Given the description of an element on the screen output the (x, y) to click on. 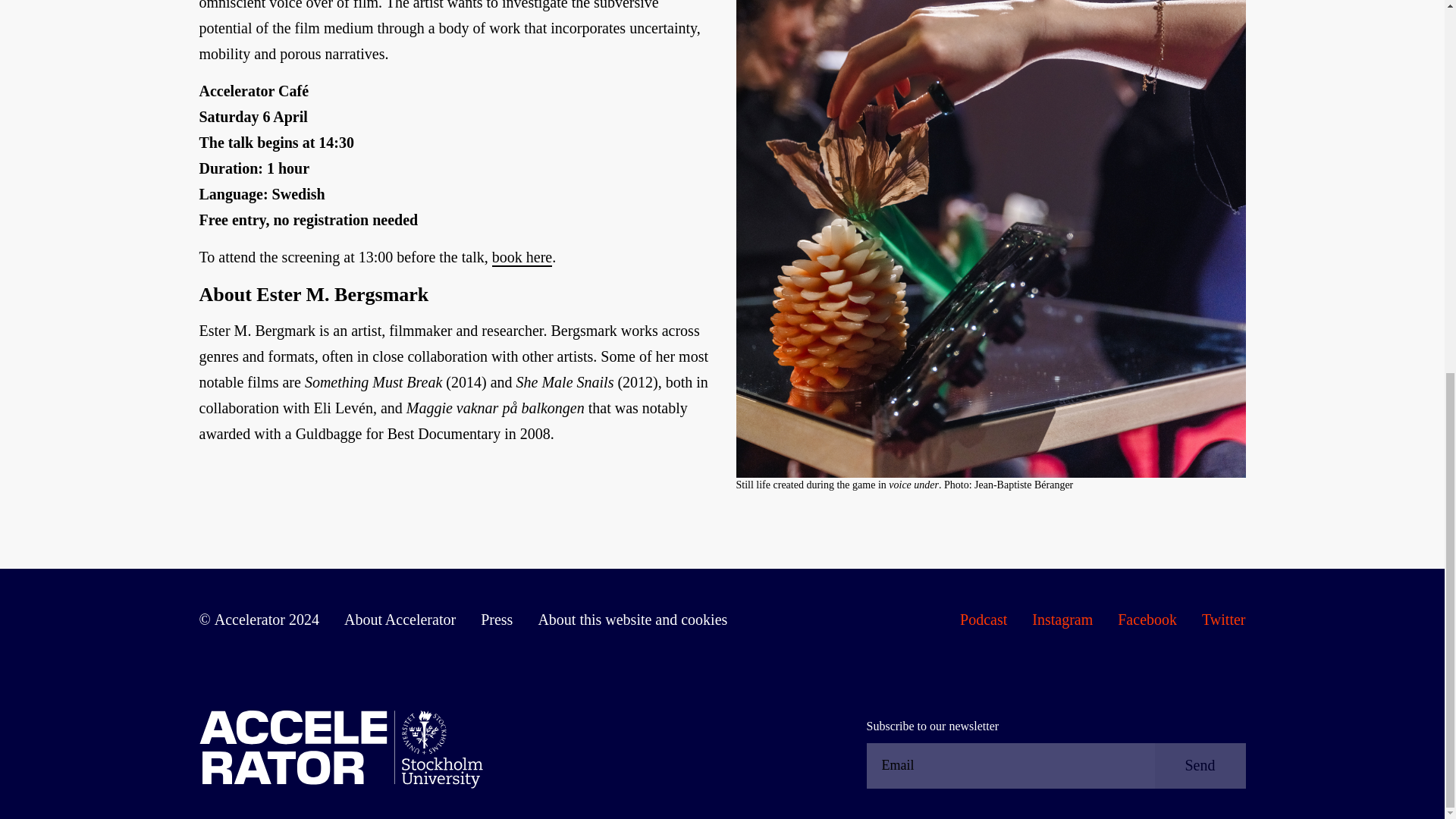
Send (1199, 765)
Facebook (1147, 619)
Twitter (1223, 619)
About Accelerator (399, 619)
Press (496, 619)
About this website and cookies (631, 619)
Instagram (1062, 619)
book here (521, 257)
Accelerator 2024 (258, 619)
Podcast (983, 619)
